Given the description of an element on the screen output the (x, y) to click on. 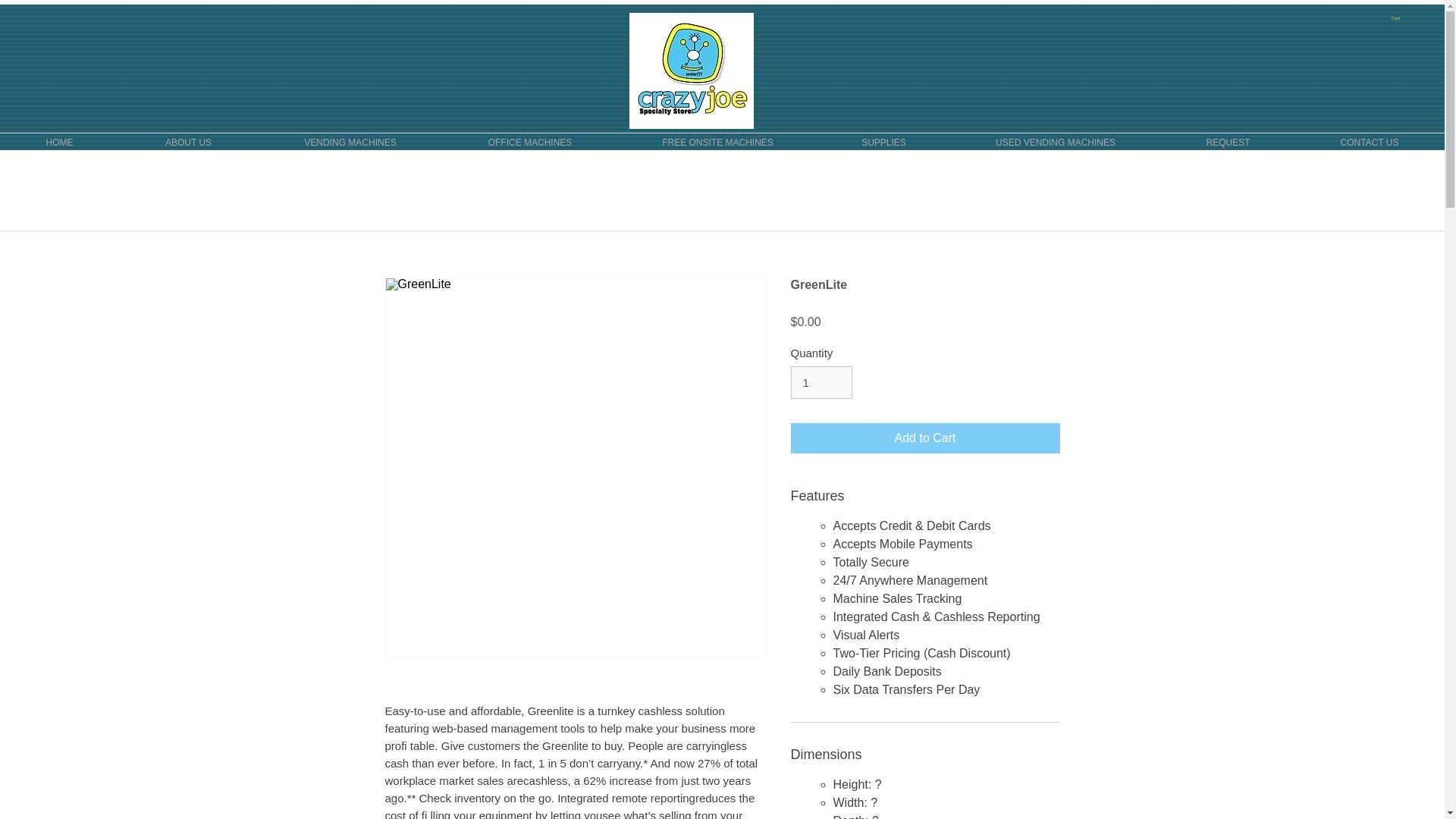
HOME (59, 142)
Cart (1400, 17)
ABOUT US (188, 142)
Cart (1400, 17)
1 (820, 382)
Add to Cart (924, 438)
